Given the description of an element on the screen output the (x, y) to click on. 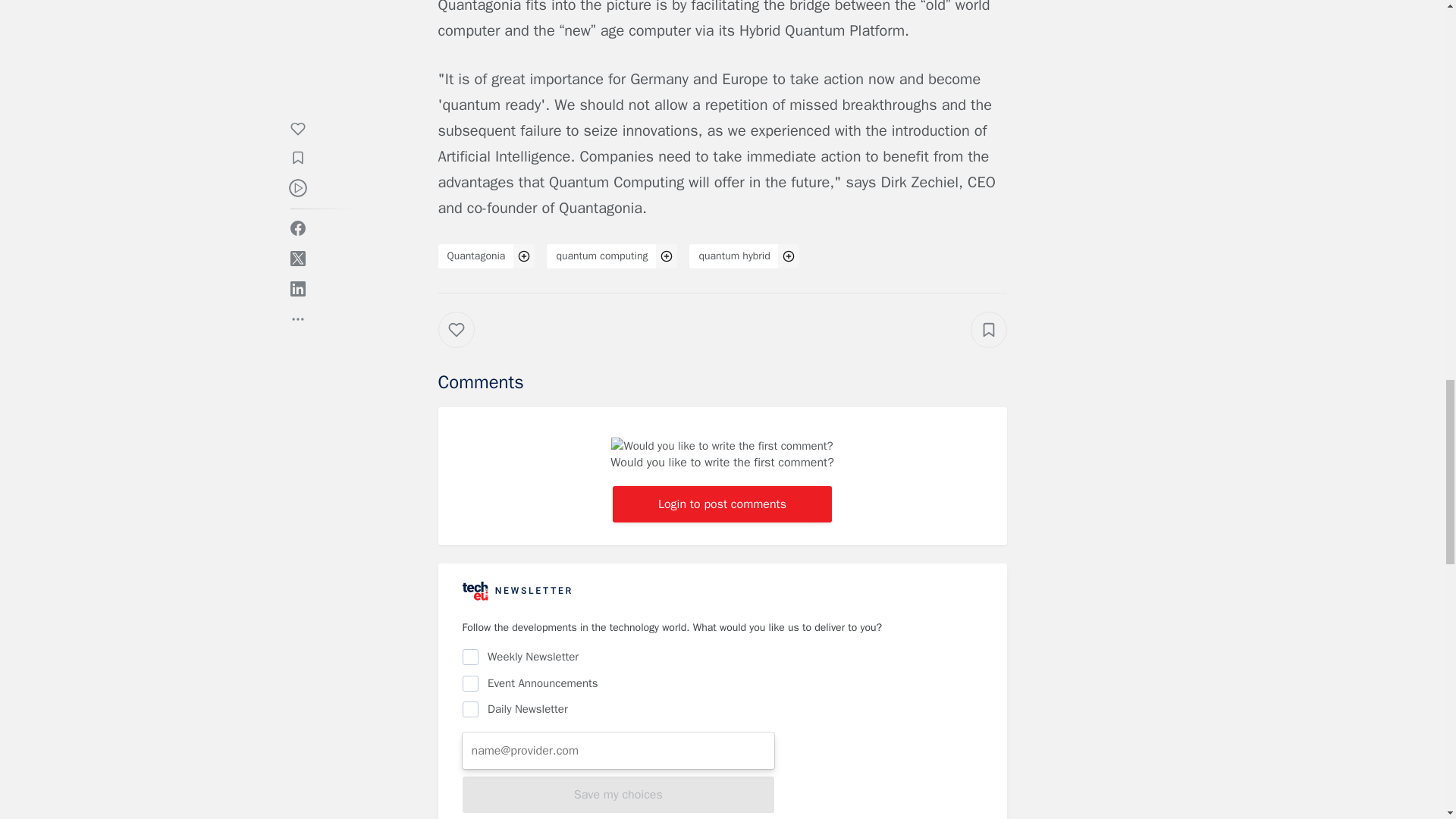
Like (467, 344)
Quantagonia (476, 256)
Add to collection (989, 330)
quantum hybrid (733, 256)
quantum computing (601, 256)
